Given the description of an element on the screen output the (x, y) to click on. 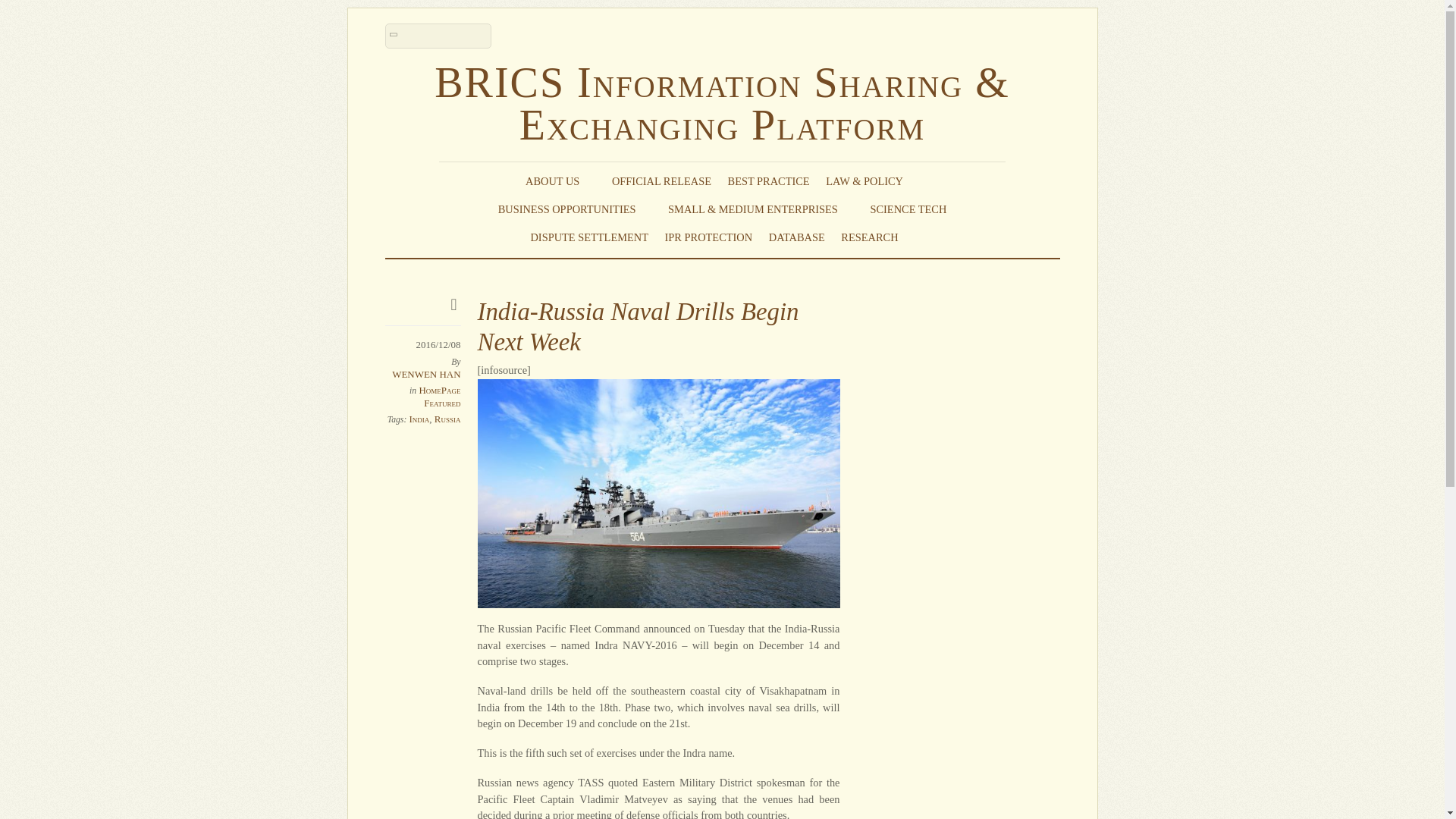
BEST PRACTICE (768, 180)
DATABASE (796, 237)
ABOUT US (559, 180)
DISPUTE SETTLEMENT (588, 237)
OFFICIAL RELEASE (661, 180)
RESEARCH (877, 237)
BUSINESS OPPORTUNITIES (575, 209)
SCIENCE TECH (908, 209)
WENWEN HAN (425, 374)
IPR PROTECTION (709, 237)
Russia (447, 419)
India (419, 419)
HomePage Featured (439, 396)
India-Russia Naval Drills Begin Next Week (638, 326)
Search (438, 35)
